Given the description of an element on the screen output the (x, y) to click on. 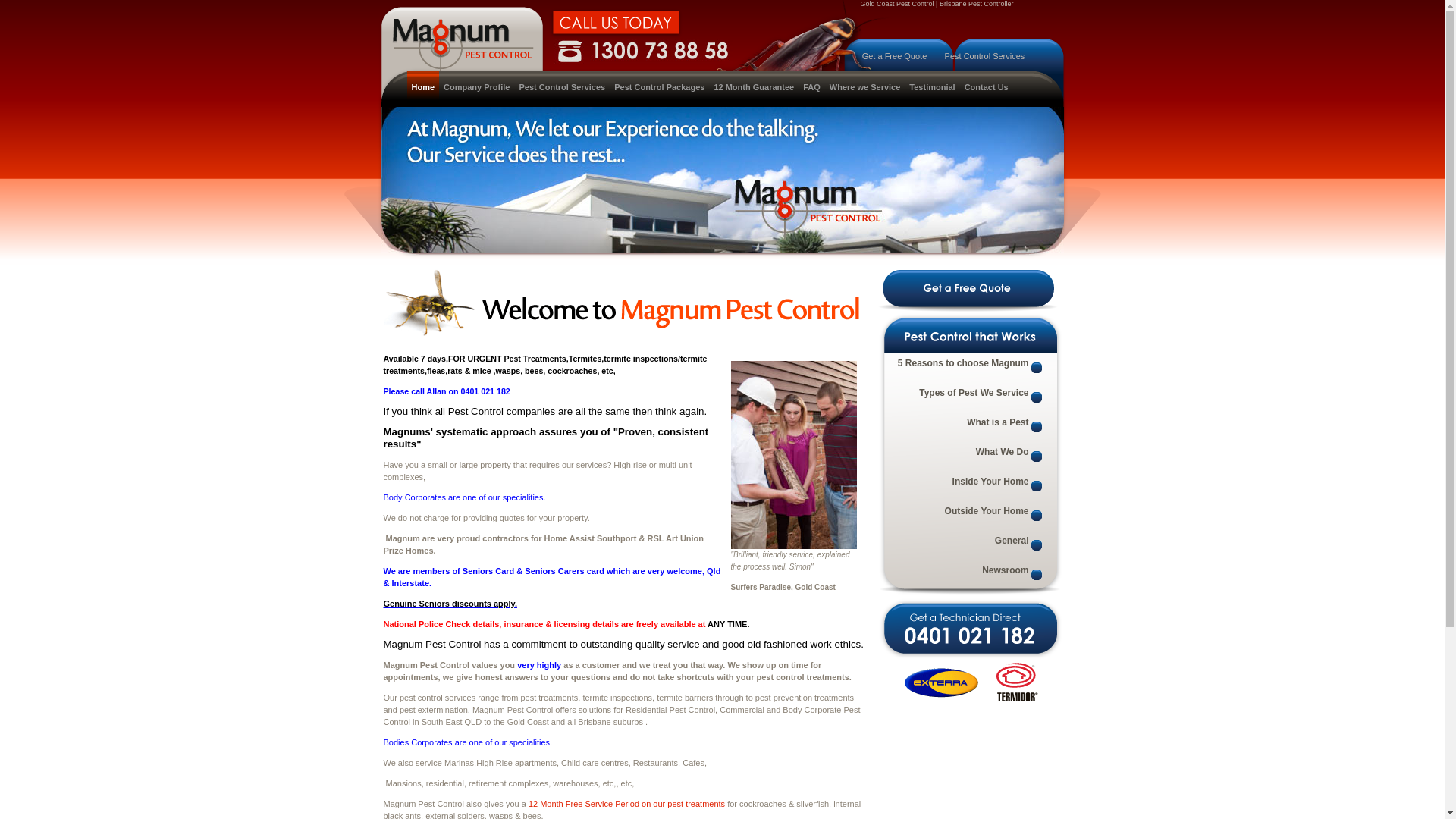
12 Month Free Service Period on our pest treatments Element type: text (626, 803)
Get a Free Quote Element type: text (894, 55)
Welcome to Magnum Pest Control Element type: hover (622, 306)
Pest Control Element type: hover (793, 454)
General Element type: text (966, 544)
What is a Pest Element type: text (966, 426)
12 Month Guarantee Element type: text (753, 87)
5 Reasons to choose Magnum Element type: text (966, 367)
Company Profile Element type: text (476, 87)
Pest Control Packages Element type: text (659, 87)
Where we Service Element type: text (865, 87)
Home Element type: text (422, 87)
Newsroom Element type: text (966, 574)
Outside Your Home Element type: text (966, 515)
Get a Technician Direct 0401 021 182 Element type: hover (969, 628)
What We Do Element type: text (966, 455)
Testimonial Element type: text (931, 87)
FAQ Element type: text (811, 87)
Pest Control Services Element type: text (561, 87)
Get a Free Quote Element type: hover (966, 290)
Contact Us Element type: text (986, 87)
Inside Your Home Element type: text (966, 485)
Exterra & Termidor Element type: hover (970, 681)
Pest Control Services Element type: text (984, 55)
Types of Pest We Service Element type: text (966, 396)
